Given the description of an element on the screen output the (x, y) to click on. 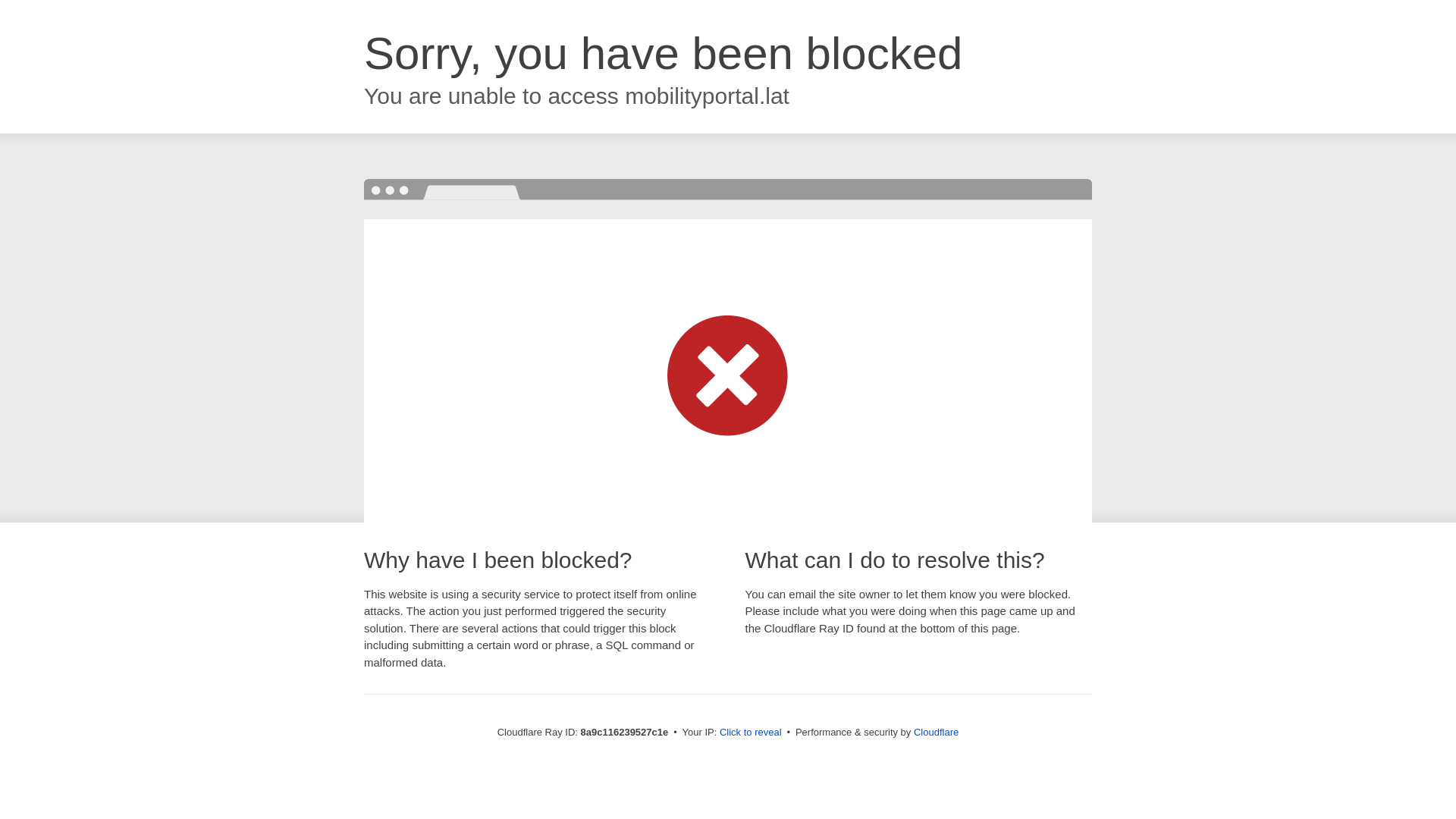
Click to reveal (750, 732)
Cloudflare (936, 731)
